Given the description of an element on the screen output the (x, y) to click on. 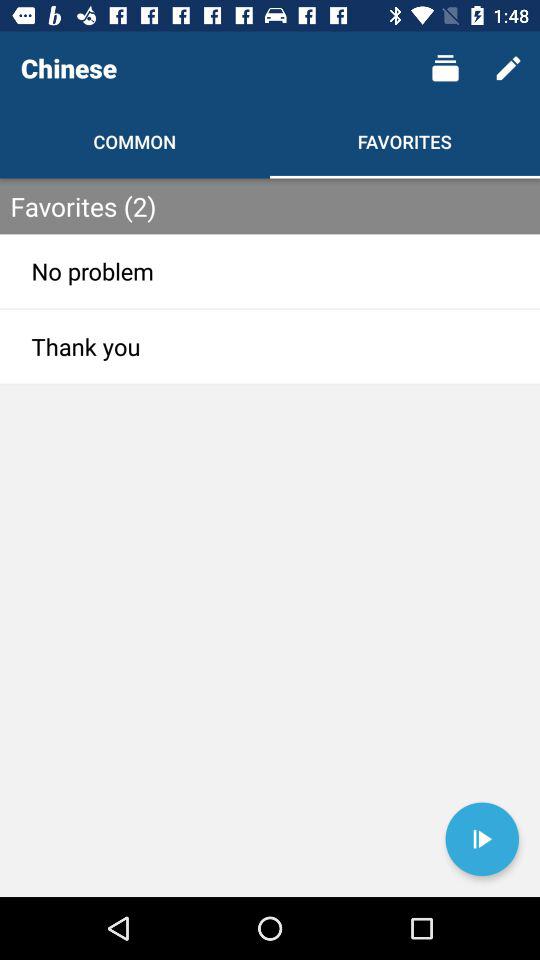
play voice clips (482, 839)
